Given the description of an element on the screen output the (x, y) to click on. 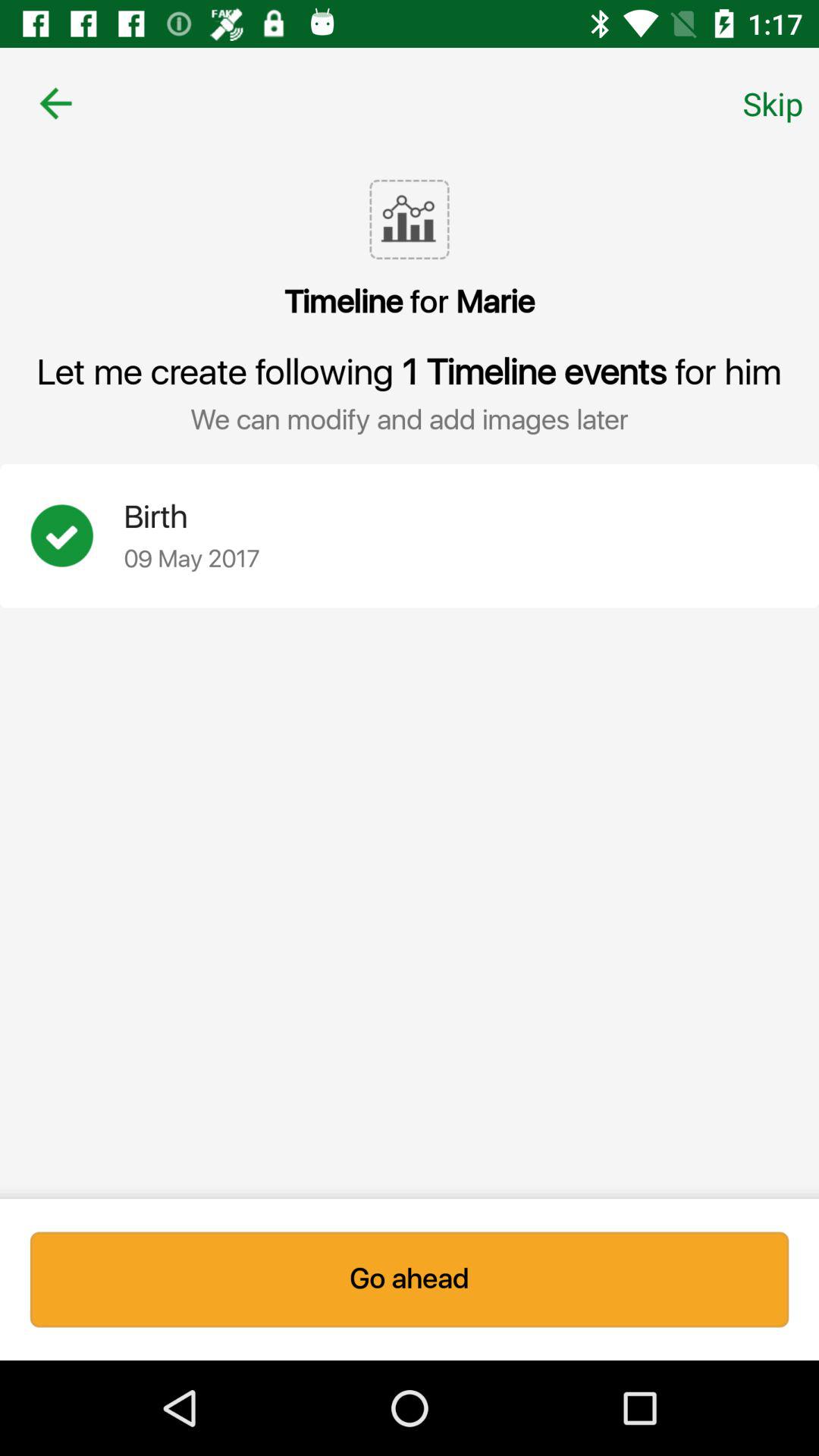
jump until skip item (772, 103)
